Given the description of an element on the screen output the (x, y) to click on. 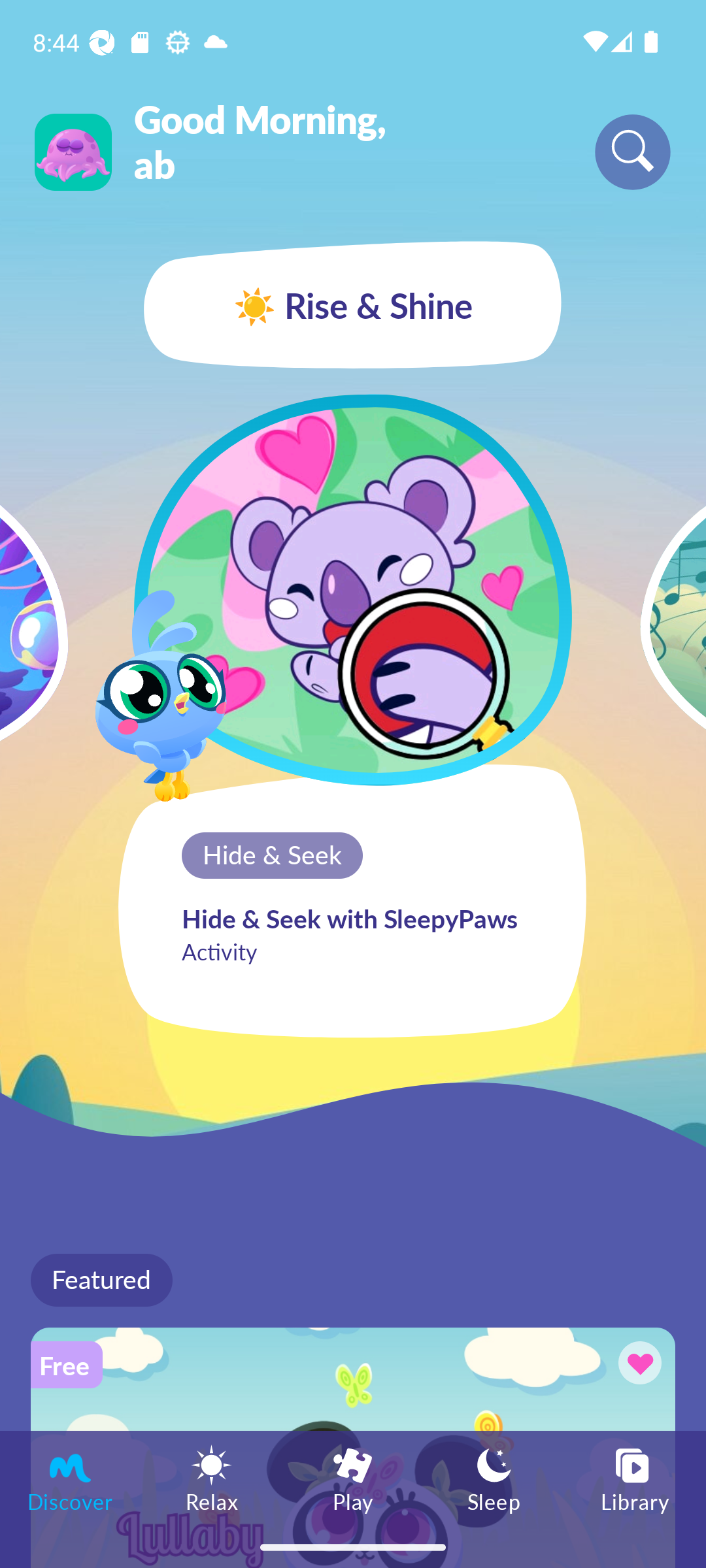
Search (632, 151)
Button (636, 1365)
Relax (211, 1478)
Play (352, 1478)
Sleep (493, 1478)
Library (635, 1478)
